Given the description of an element on the screen output the (x, y) to click on. 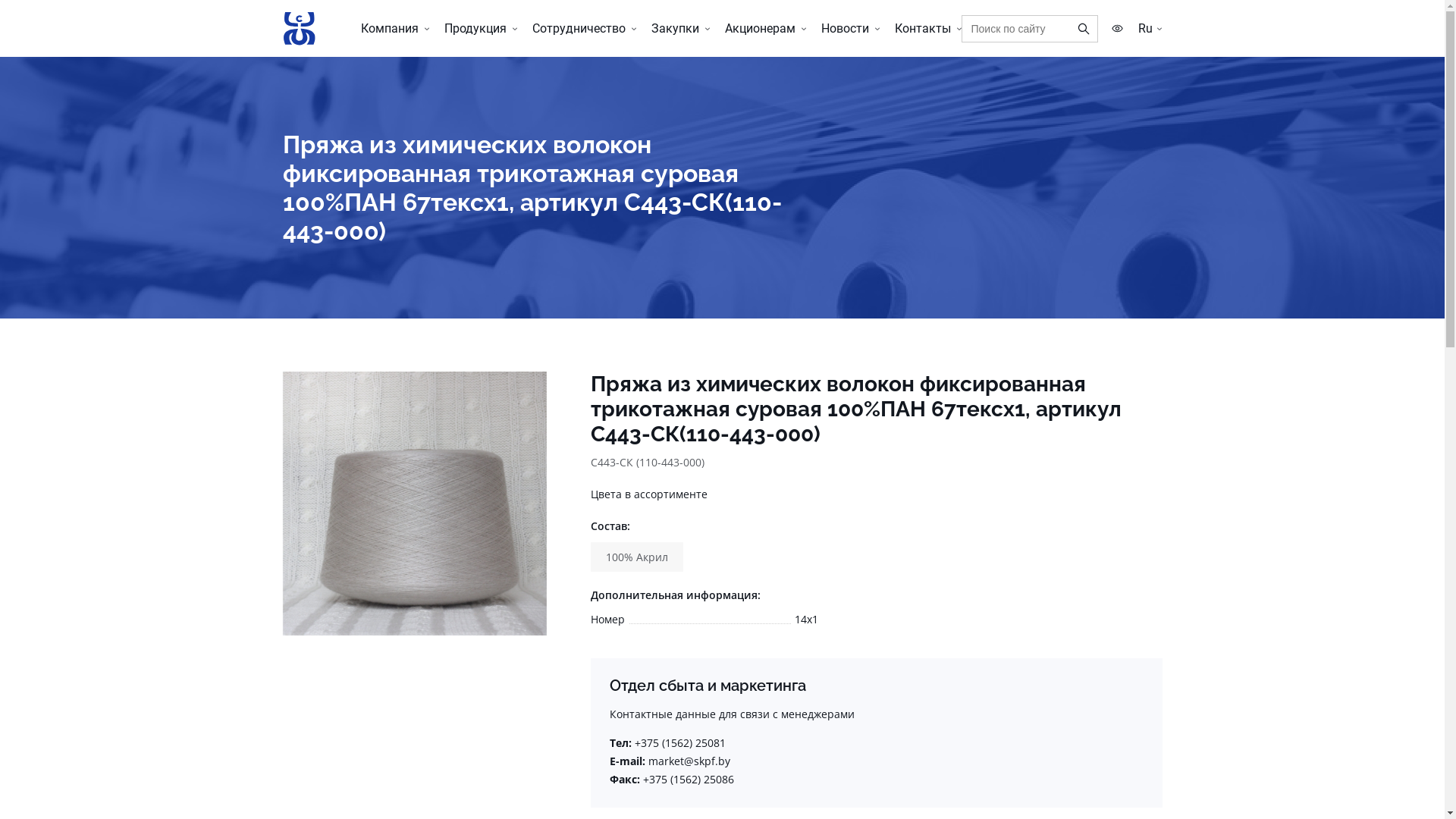
+375 (1562) 25081 Element type: text (678, 742)
Search Button Element type: text (1084, 28)
market@skpf.by Element type: text (688, 760)
+375 (1562) 25086 Element type: text (688, 778)
